Given the description of an element on the screen output the (x, y) to click on. 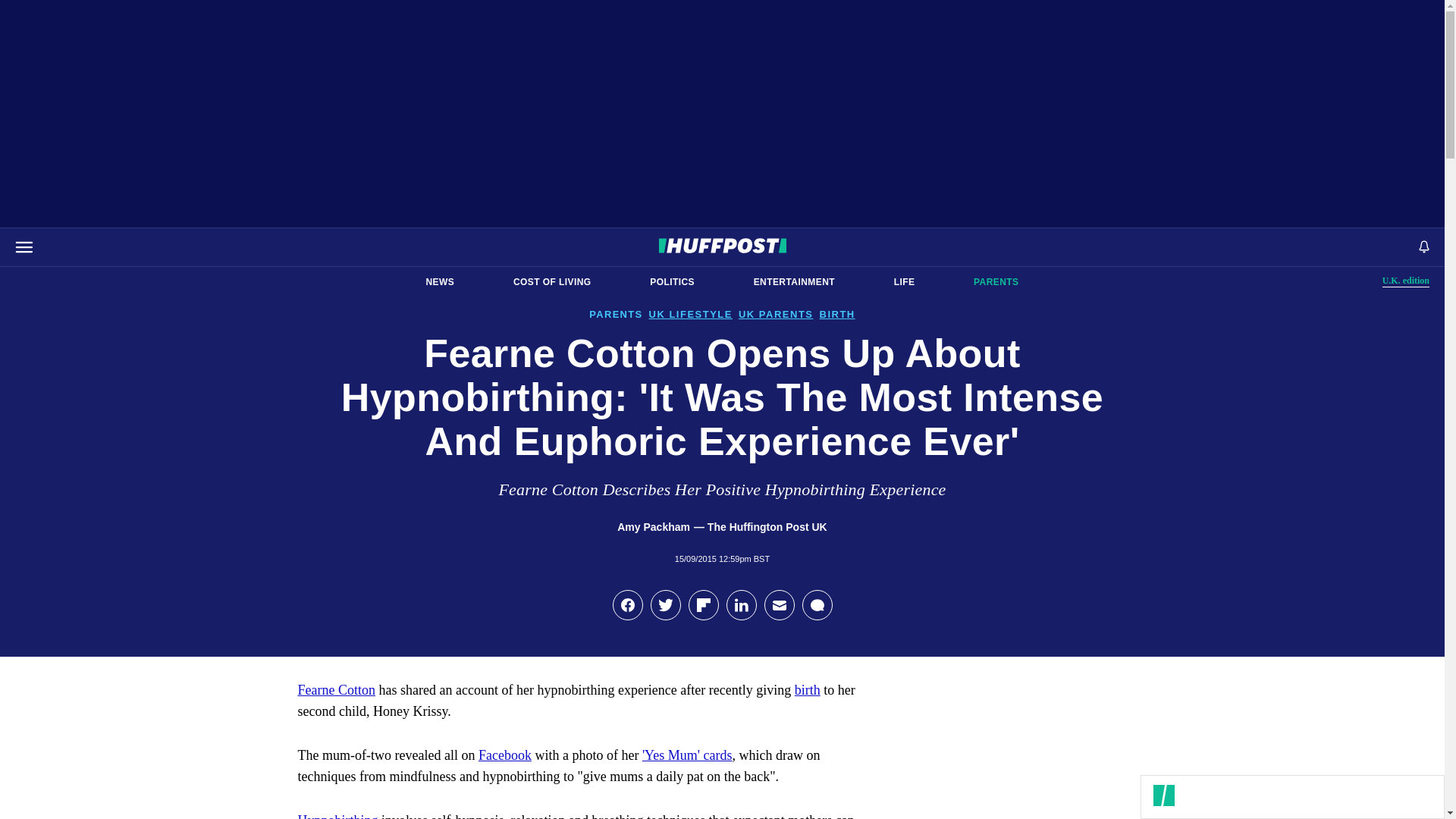
NEWS (440, 281)
POLITICS (671, 281)
ENTERTAINMENT (1405, 281)
PARENTS (794, 281)
COST OF LIVING (995, 281)
LIFE (552, 281)
